Given the description of an element on the screen output the (x, y) to click on. 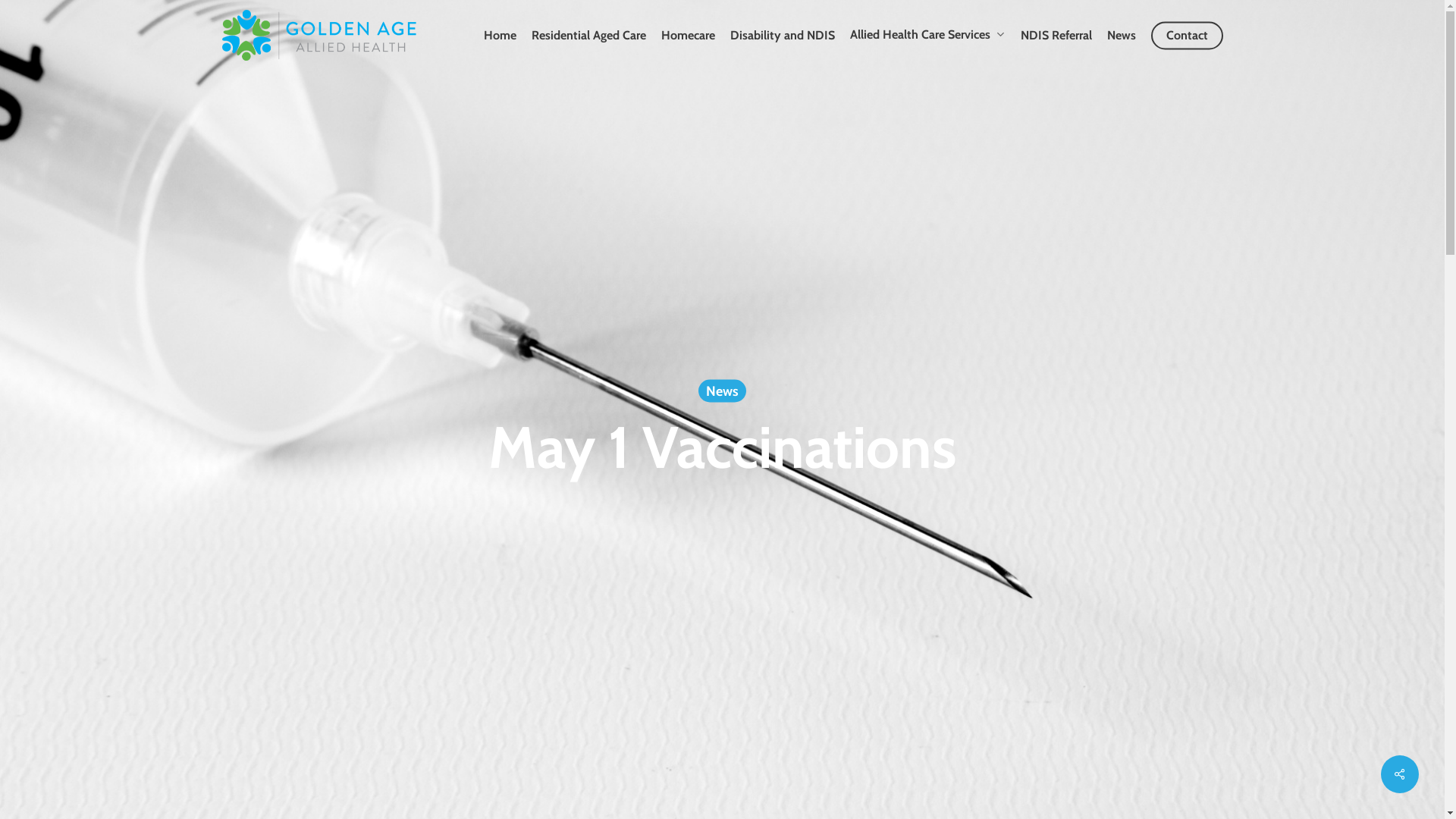
Allied Health Care Services Element type: text (926, 34)
Homecare Element type: text (688, 34)
Residential Aged Care Element type: text (587, 34)
News Element type: text (721, 390)
Home Element type: text (499, 34)
NDIS Referral Element type: text (1056, 34)
Contact Element type: text (1187, 34)
Disability and NDIS Element type: text (781, 34)
News Element type: text (1121, 34)
